Given the description of an element on the screen output the (x, y) to click on. 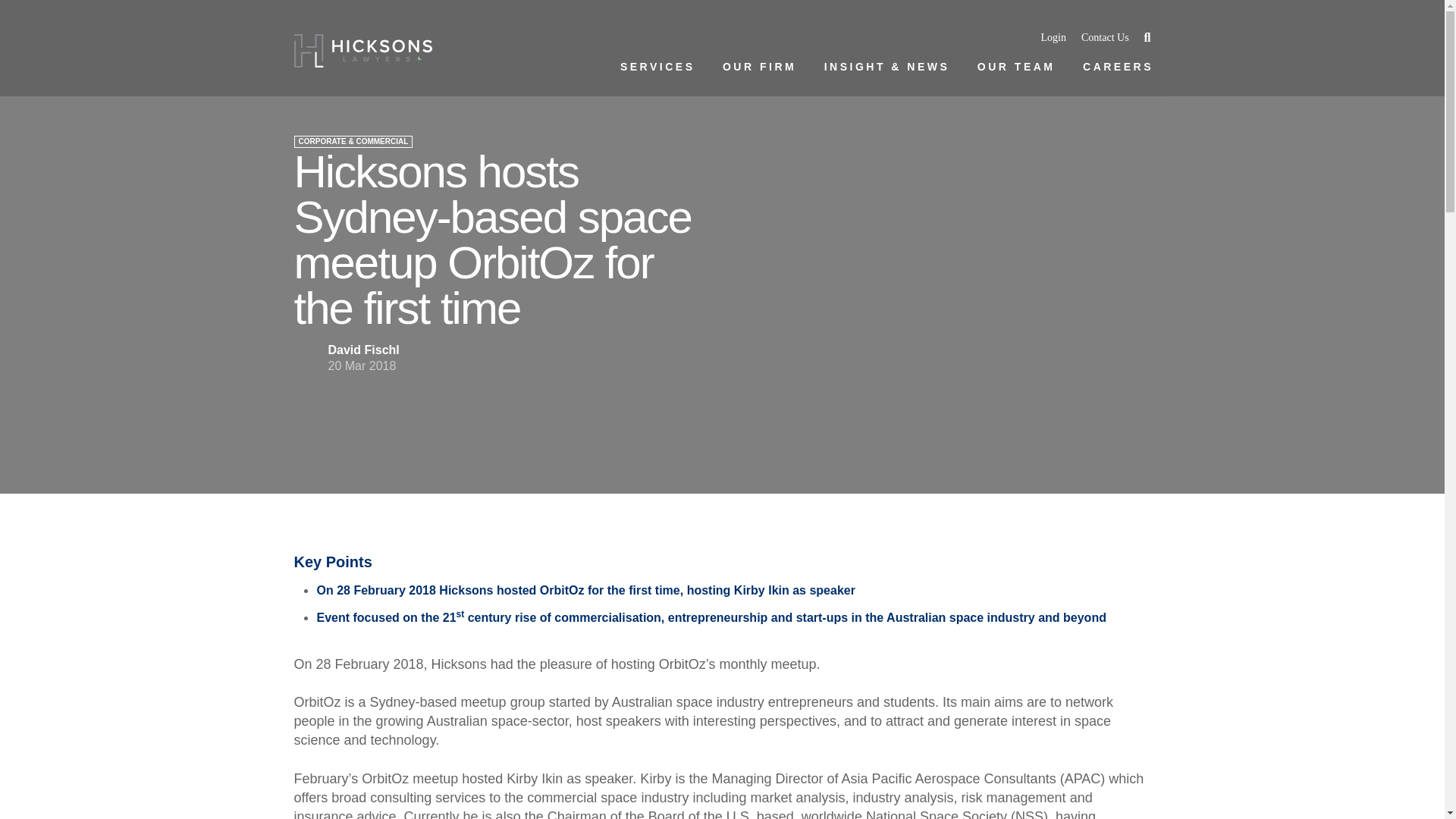
SERVICES (656, 66)
Contact Us (1105, 37)
Login (1053, 37)
Hicksons Lawyers (363, 50)
